Given the description of an element on the screen output the (x, y) to click on. 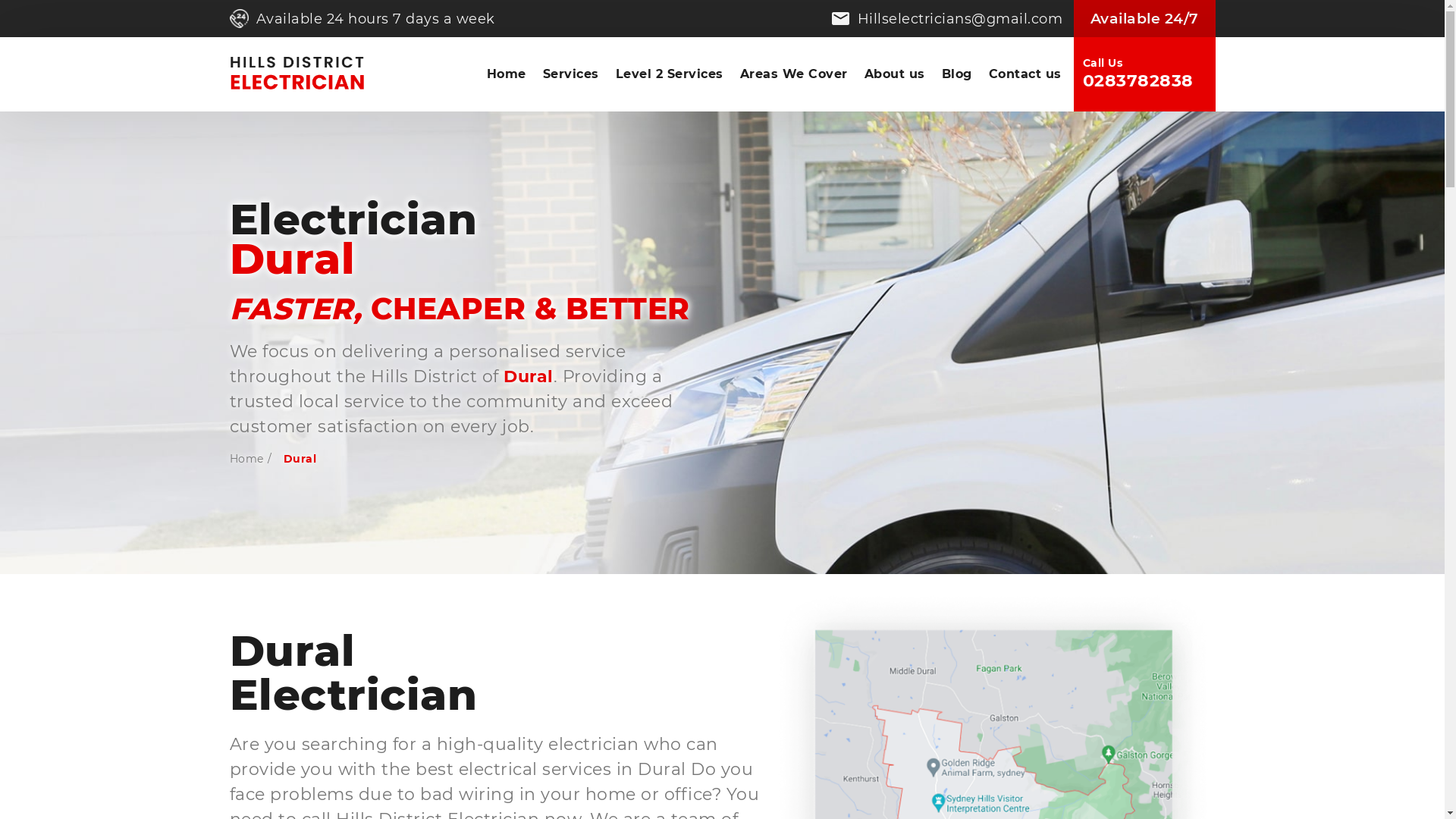
Services Element type: text (569, 74)
Level 2 Services Element type: text (668, 74)
Areas We Cover Element type: text (793, 74)
Home Element type: text (505, 74)
Home Element type: text (246, 458)
Blog Element type: text (955, 74)
0283782838 Element type: text (1144, 80)
Hillselectricians@gmail.com Element type: text (952, 18)
About us Element type: text (893, 74)
Contact us Element type: text (1024, 74)
